Given the description of an element on the screen output the (x, y) to click on. 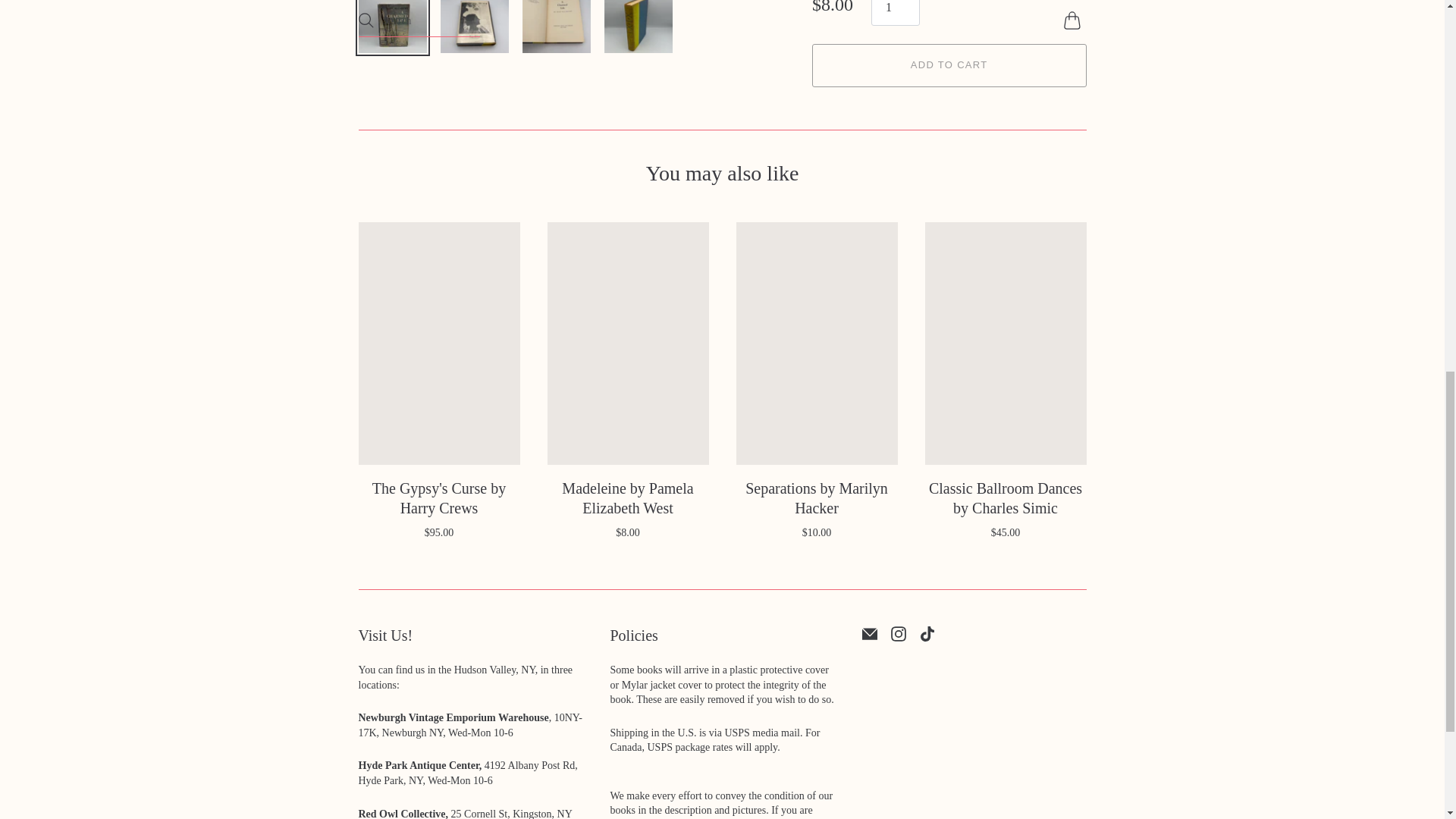
1 (895, 12)
